Given the description of an element on the screen output the (x, y) to click on. 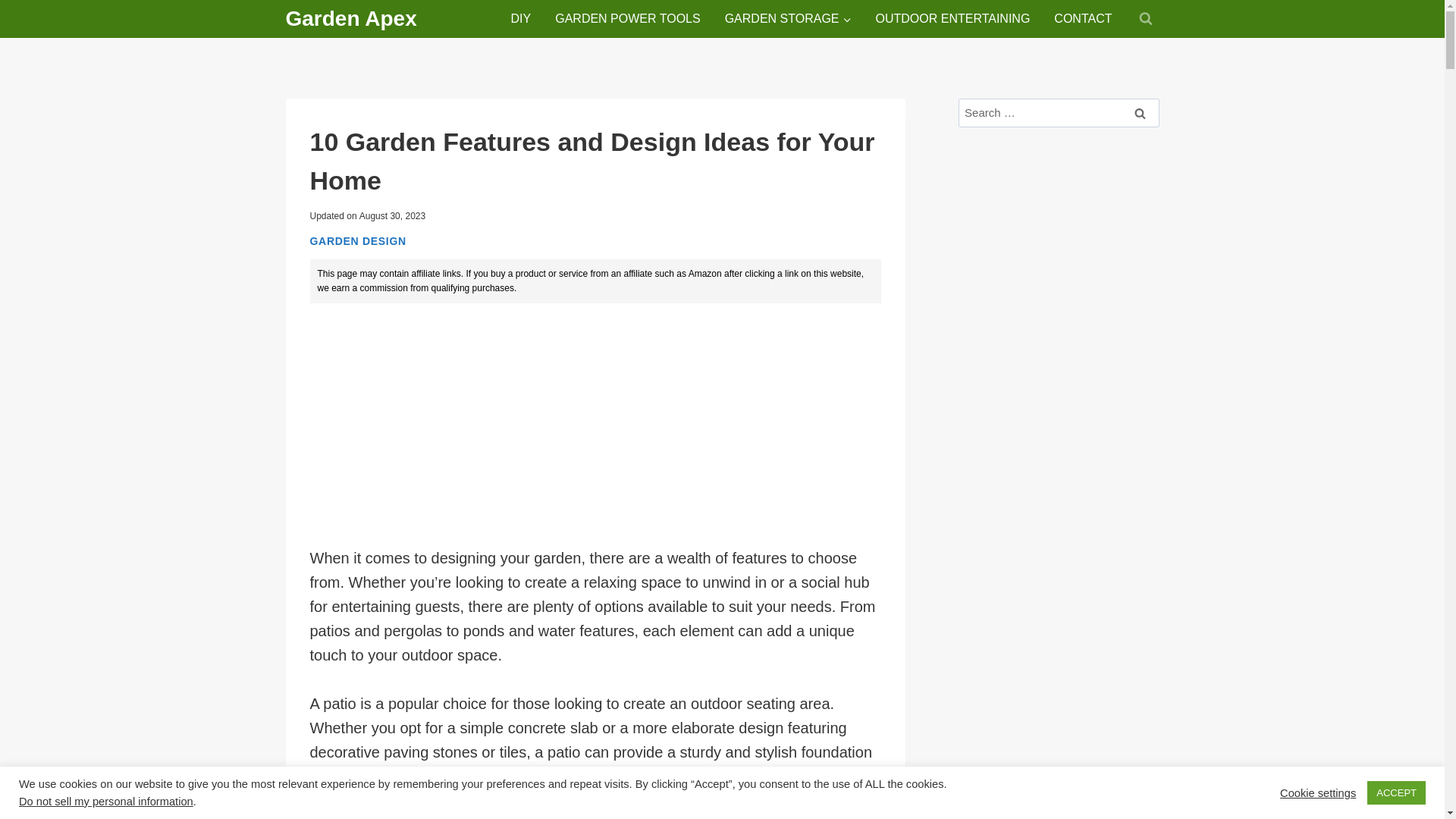
Cookie settings (1317, 792)
GARDEN POWER TOOLS (627, 19)
CONTACT (1083, 19)
ACCEPT (1396, 792)
GARDEN DESIGN (357, 241)
Advertisement (595, 424)
OUTDOOR ENTERTAINING (952, 19)
GARDEN STORAGE (788, 19)
DIY (521, 19)
Do not sell my personal information (105, 801)
Search (1139, 112)
Advertisement (1058, 717)
Garden Apex (350, 18)
Search (1139, 112)
Search (1139, 112)
